Given the description of an element on the screen output the (x, y) to click on. 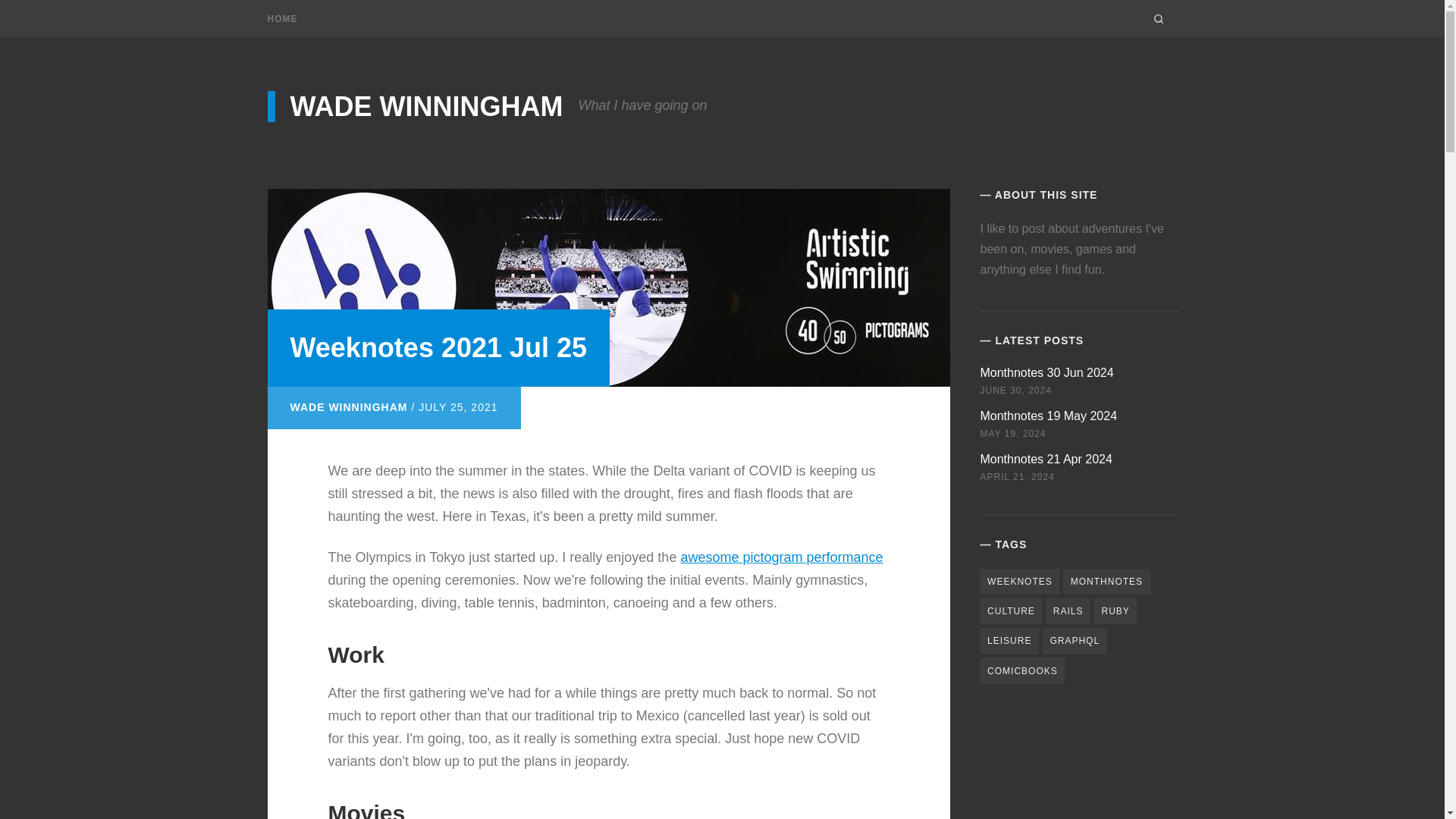
LEISURE (1009, 637)
GRAPHQL (1074, 638)
CULTURE (1010, 606)
HOME (287, 18)
MONTHNOTES (1106, 575)
Monthnotes 30 Jun 2024 (1046, 362)
RAILS (1067, 606)
HOME (281, 18)
WEEKNOTES (1019, 574)
Monthnotes 21 Apr 2024 (1045, 451)
WADE WINNINGHAM (414, 91)
RUBY (1115, 607)
Monthnotes 19 May 2024 (1047, 407)
COMICBOOKS (1021, 667)
